Given the description of an element on the screen output the (x, y) to click on. 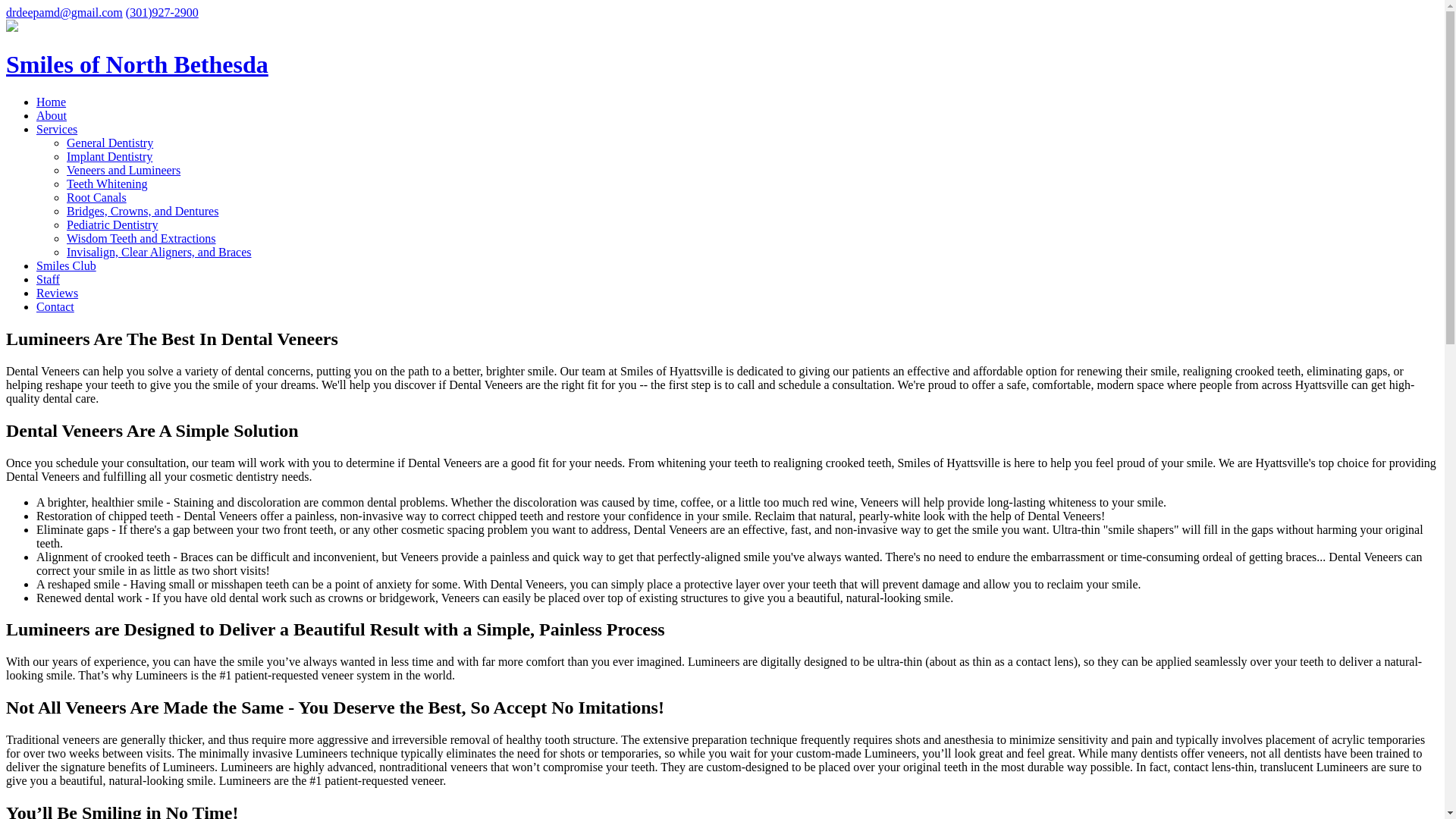
Invisalign, Clear Aligners, and Braces (158, 251)
General Dentistry (109, 142)
Smiles Club (66, 265)
Smiles Club (66, 265)
Staff (47, 278)
Root Canals (96, 196)
Services (56, 128)
About (51, 115)
Wisdom Teeth and Extractions (140, 237)
About (51, 115)
Veneers and Lumineers (123, 169)
Pediatric Dentistry (111, 224)
Contact (55, 306)
Home (50, 101)
Teeth Whitening (107, 183)
